Given the description of an element on the screen output the (x, y) to click on. 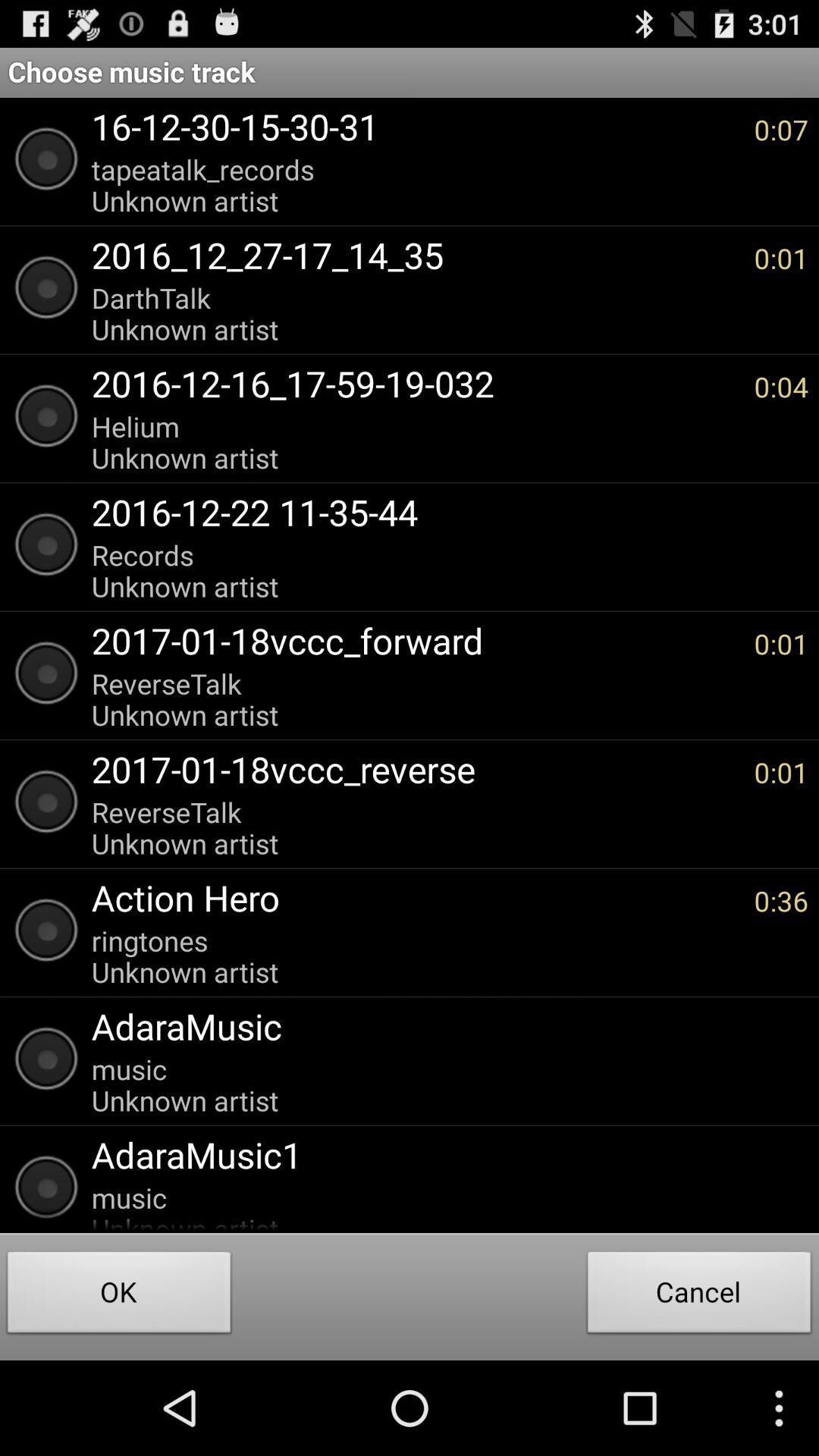
click the ok (119, 1296)
